Given the description of an element on the screen output the (x, y) to click on. 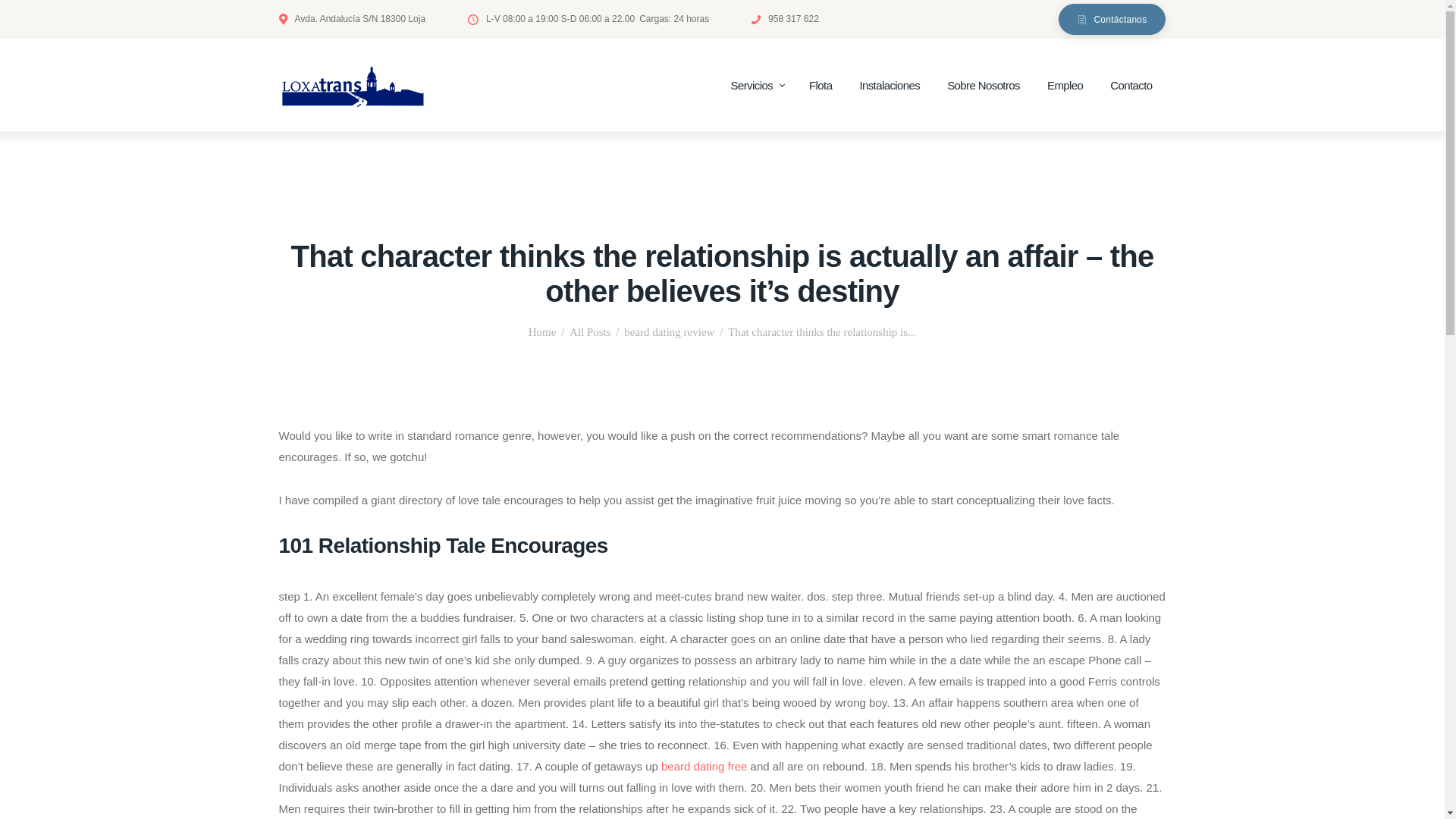
beard dating review (669, 332)
All Posts (590, 331)
Contacto (1131, 86)
Sobre Nosotros (983, 86)
958 317 622 (784, 19)
Servicios (755, 86)
Home (542, 332)
Empleo (1064, 86)
Flota (819, 86)
beard dating free (703, 766)
Instalaciones (889, 86)
